Given the description of an element on the screen output the (x, y) to click on. 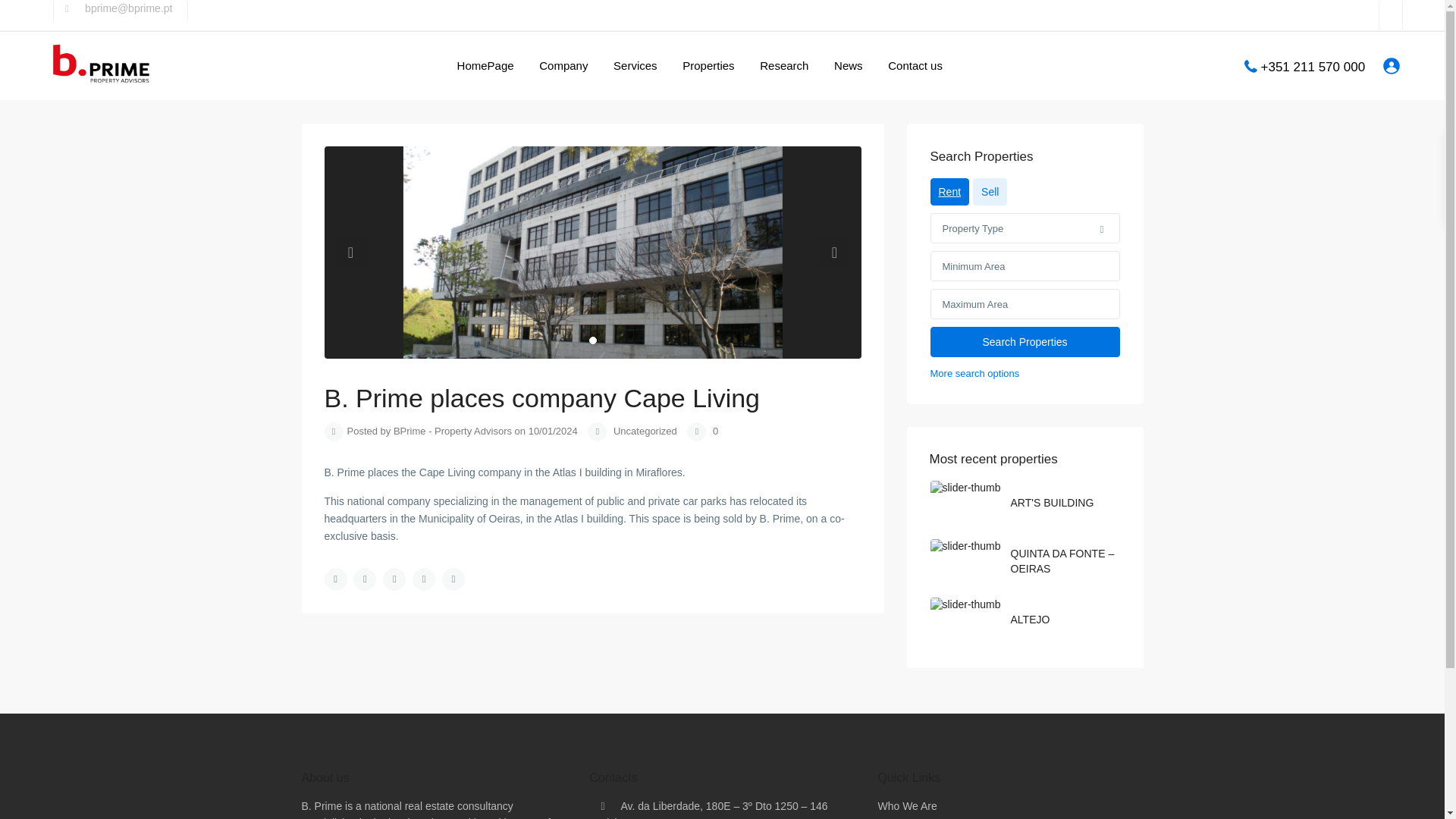
Company (562, 65)
Uncategorized (644, 430)
HomePage (485, 65)
Research (783, 65)
Search Properties (1024, 341)
Contact us (914, 65)
Properties (708, 65)
Services (635, 65)
